Given the description of an element on the screen output the (x, y) to click on. 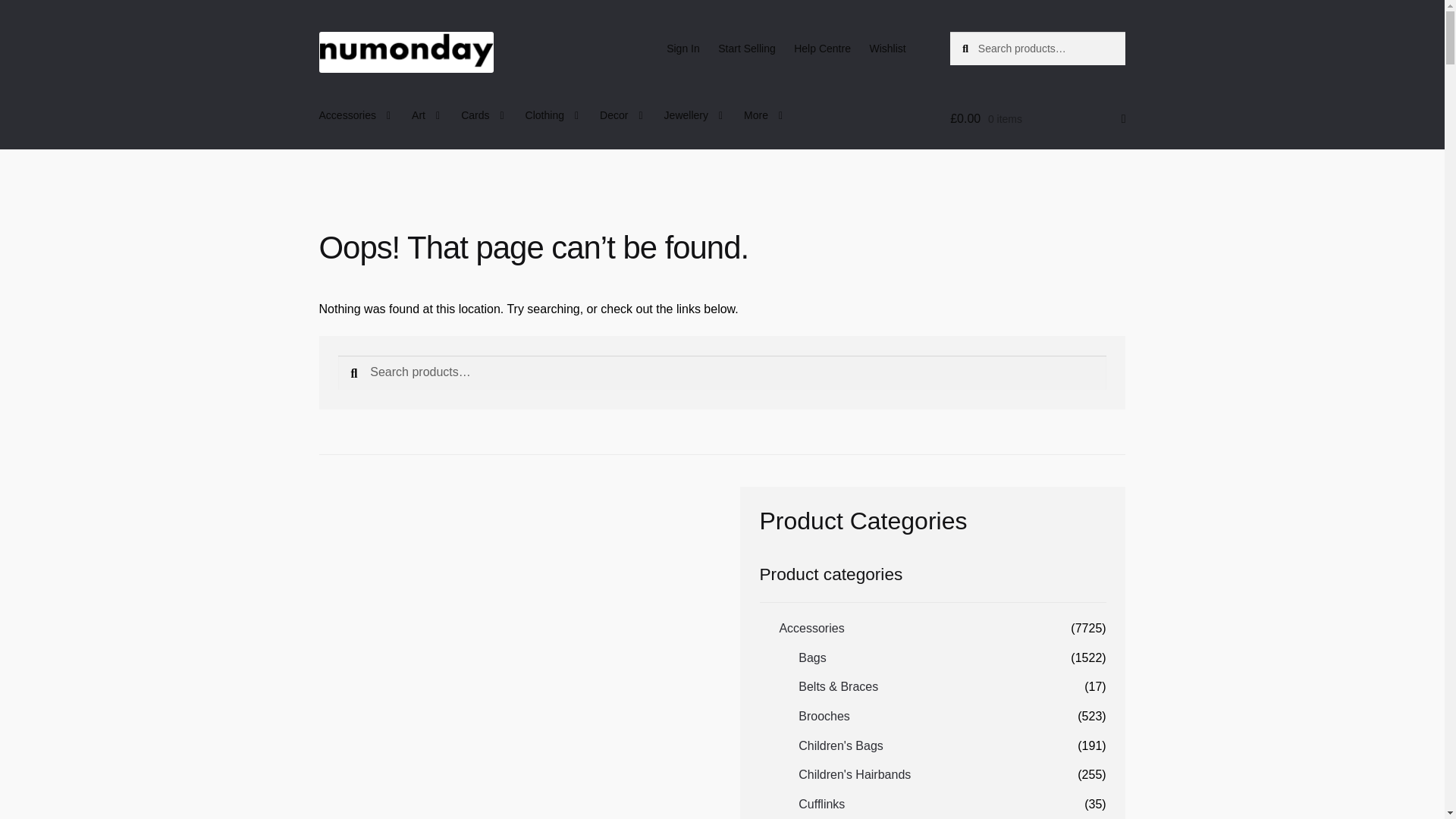
Start Selling (746, 48)
Accessories (354, 115)
View your shopping cart (1037, 118)
Art (425, 115)
Wishlist (887, 48)
Sign In (683, 48)
Help Centre (822, 48)
